Given the description of an element on the screen output the (x, y) to click on. 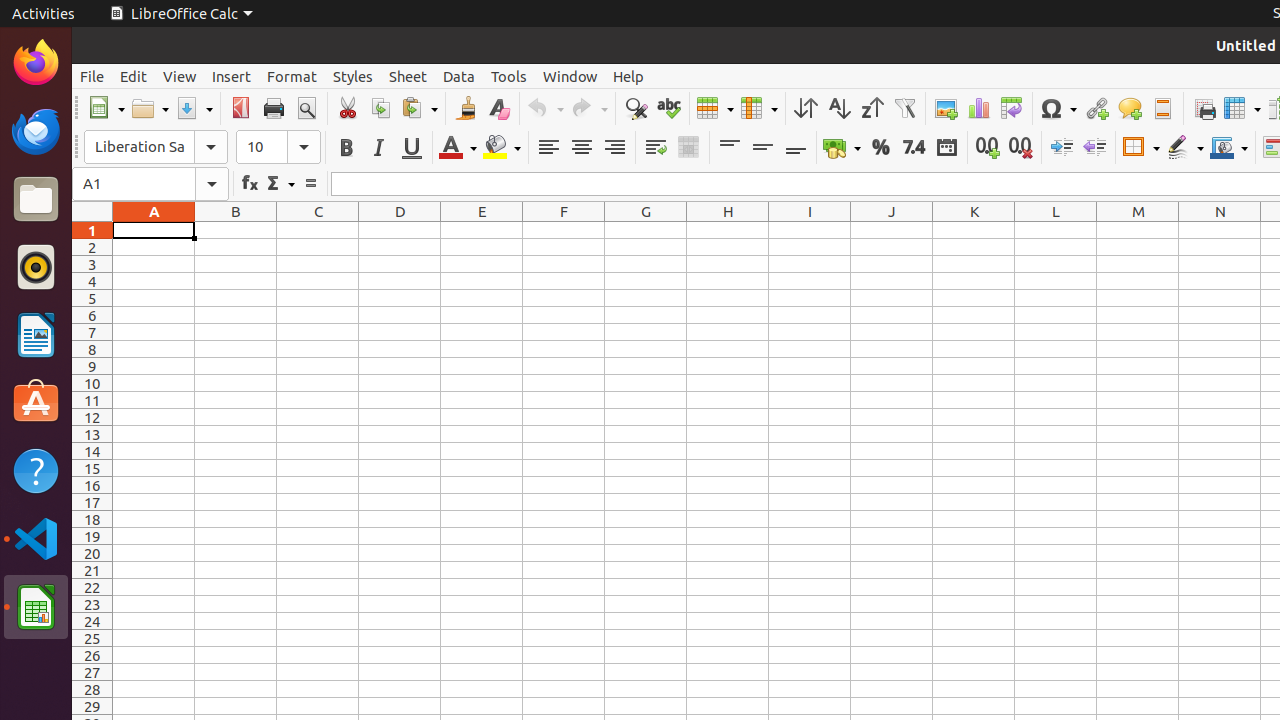
LibreOffice Calc Element type: menu (181, 13)
View Element type: menu (179, 76)
Find & Replace Element type: toggle-button (635, 108)
Percent Element type: push-button (880, 147)
Files Element type: push-button (36, 199)
